Given the description of an element on the screen output the (x, y) to click on. 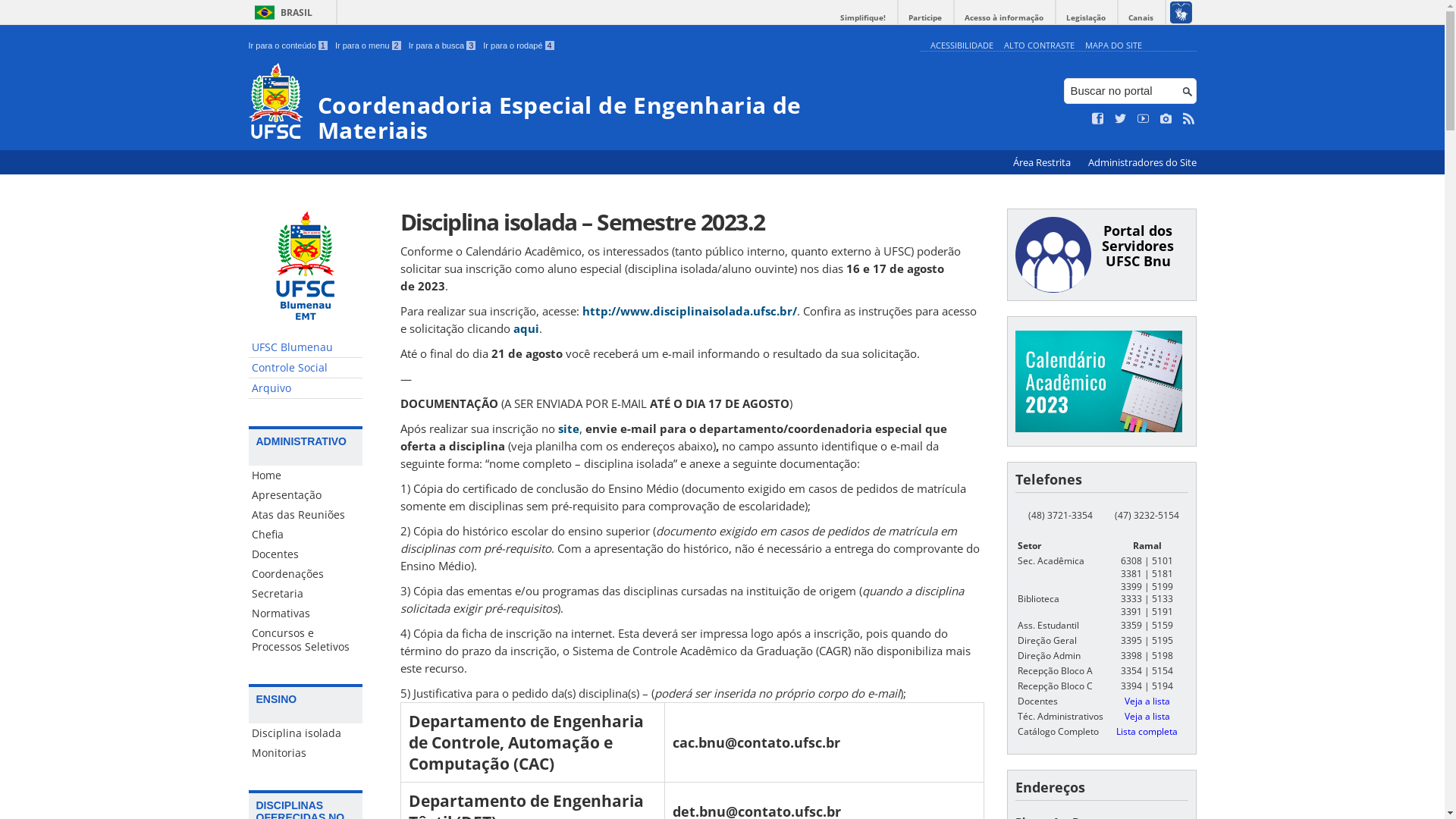
Arquivo Element type: text (305, 388)
ACESSIBILIDADE Element type: text (960, 44)
Canais Element type: text (1140, 18)
MAPA DO SITE Element type: text (1112, 44)
Chefia Element type: text (305, 534)
Lista completa Element type: text (1146, 730)
Secretaria Element type: text (305, 593)
Normativas Element type: text (305, 613)
Ir para a busca 3 Element type: text (442, 45)
aqui Element type: text (525, 327)
Curta no Facebook Element type: hover (1098, 118)
Concursos e Processos Seletivos Element type: text (305, 639)
Coordenadoria Especial de Engenharia de Materiais Element type: text (580, 102)
Participe Element type: text (924, 18)
site Element type: text (568, 428)
UFSC Blumenau Element type: text (305, 347)
Ir para o menu 2 Element type: text (368, 45)
Disciplina isolada Element type: text (305, 733)
Home Element type: text (305, 475)
Veja no Instagram Element type: hover (1166, 118)
Docentes Element type: text (305, 554)
Portal dos Servidores UFSC Bnu Element type: text (1138, 245)
Administradores do Site Element type: text (1141, 162)
BRASIL Element type: text (280, 12)
Veja a lista Element type: text (1146, 715)
Monitorias Element type: text (305, 752)
http://www.disciplinaisolada.ufsc.br/ Element type: text (689, 310)
Veja a lista Element type: text (1146, 700)
Controle Social Element type: text (305, 367)
Simplifique! Element type: text (862, 18)
ALTO CONTRASTE Element type: text (1039, 44)
Siga no Twitter Element type: hover (1120, 118)
